Given the description of an element on the screen output the (x, y) to click on. 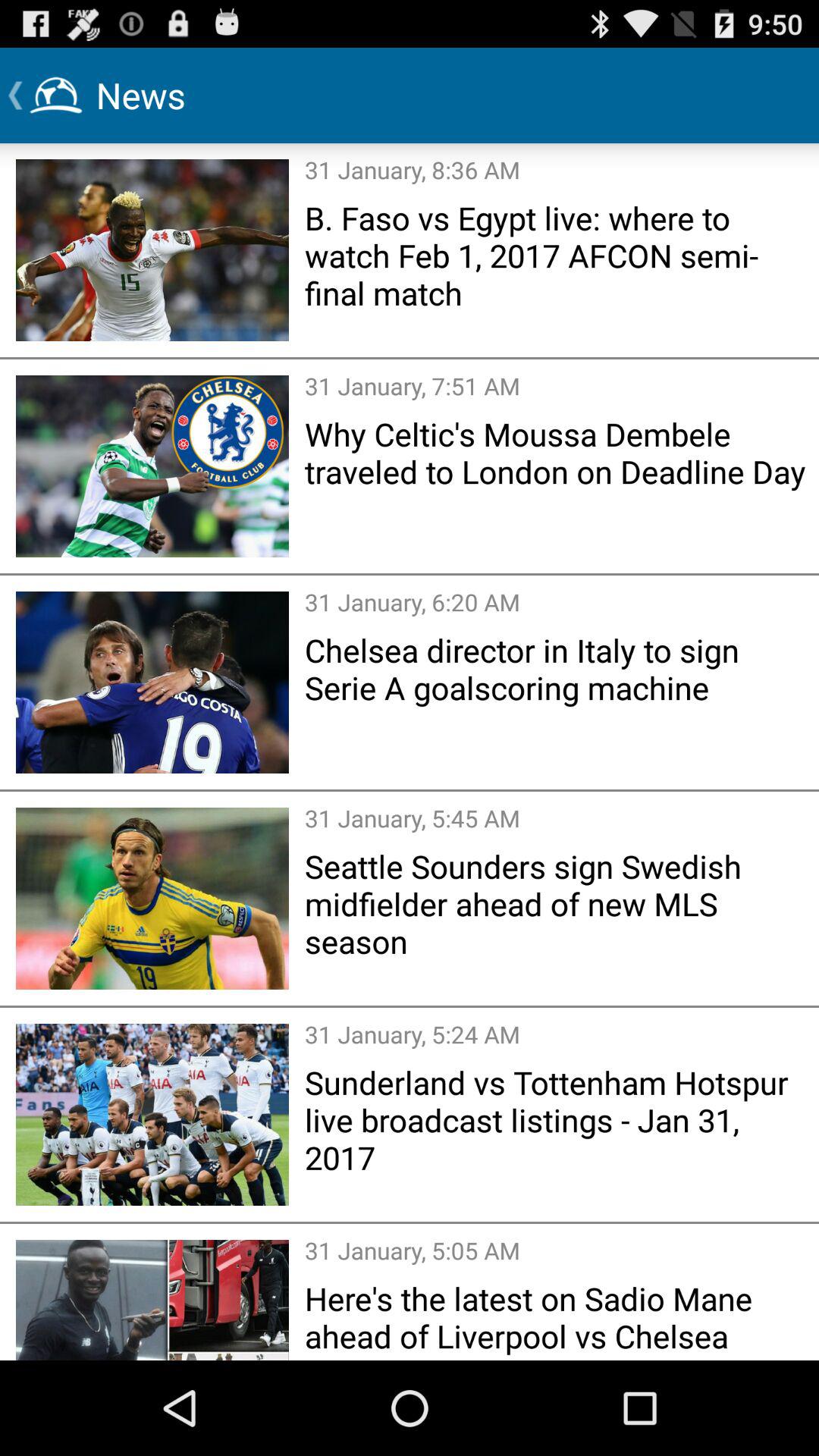
swipe to sunderland vs tottenham icon (556, 1119)
